Given the description of an element on the screen output the (x, y) to click on. 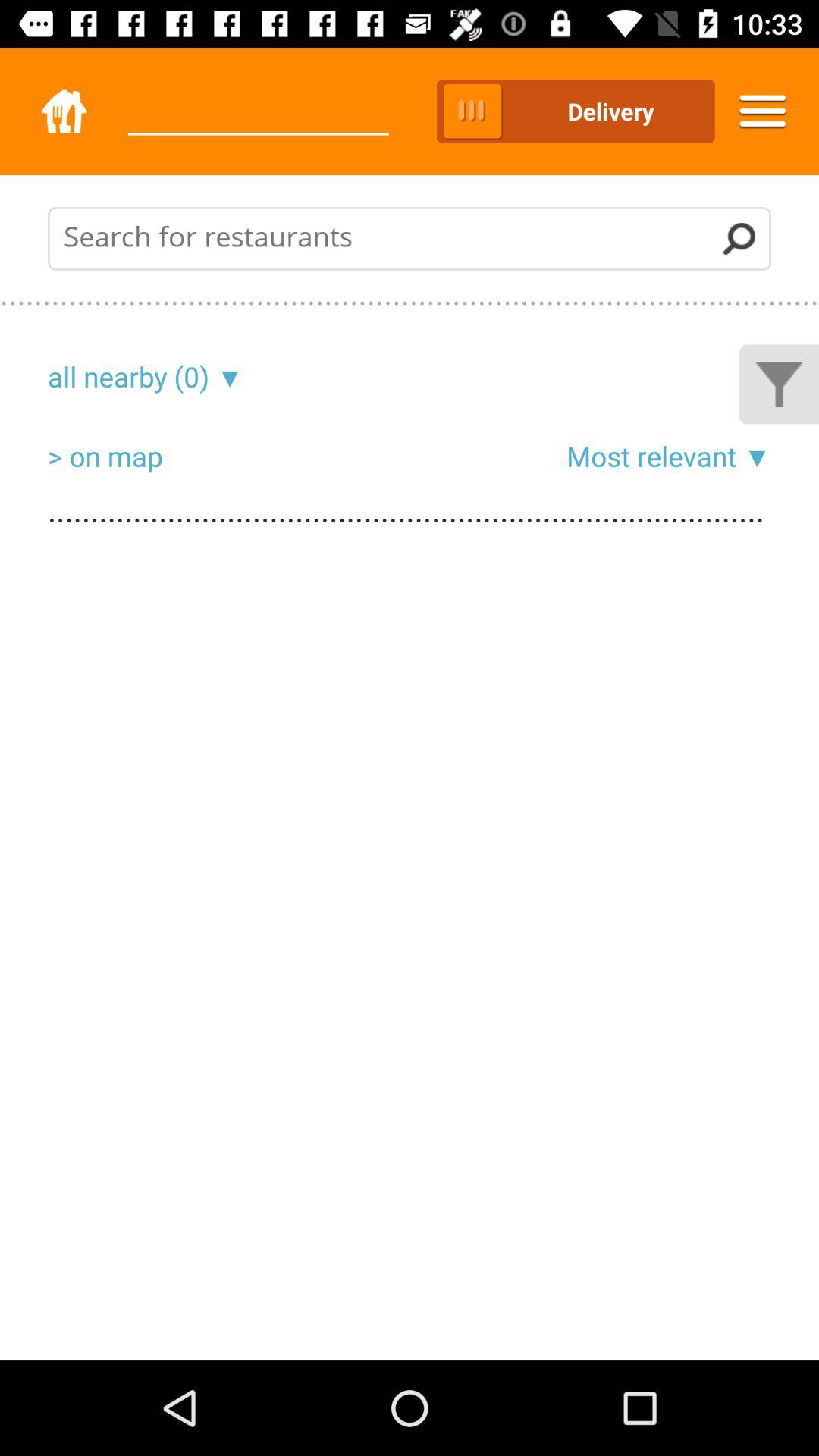
tap > on map item (104, 455)
